Given the description of an element on the screen output the (x, y) to click on. 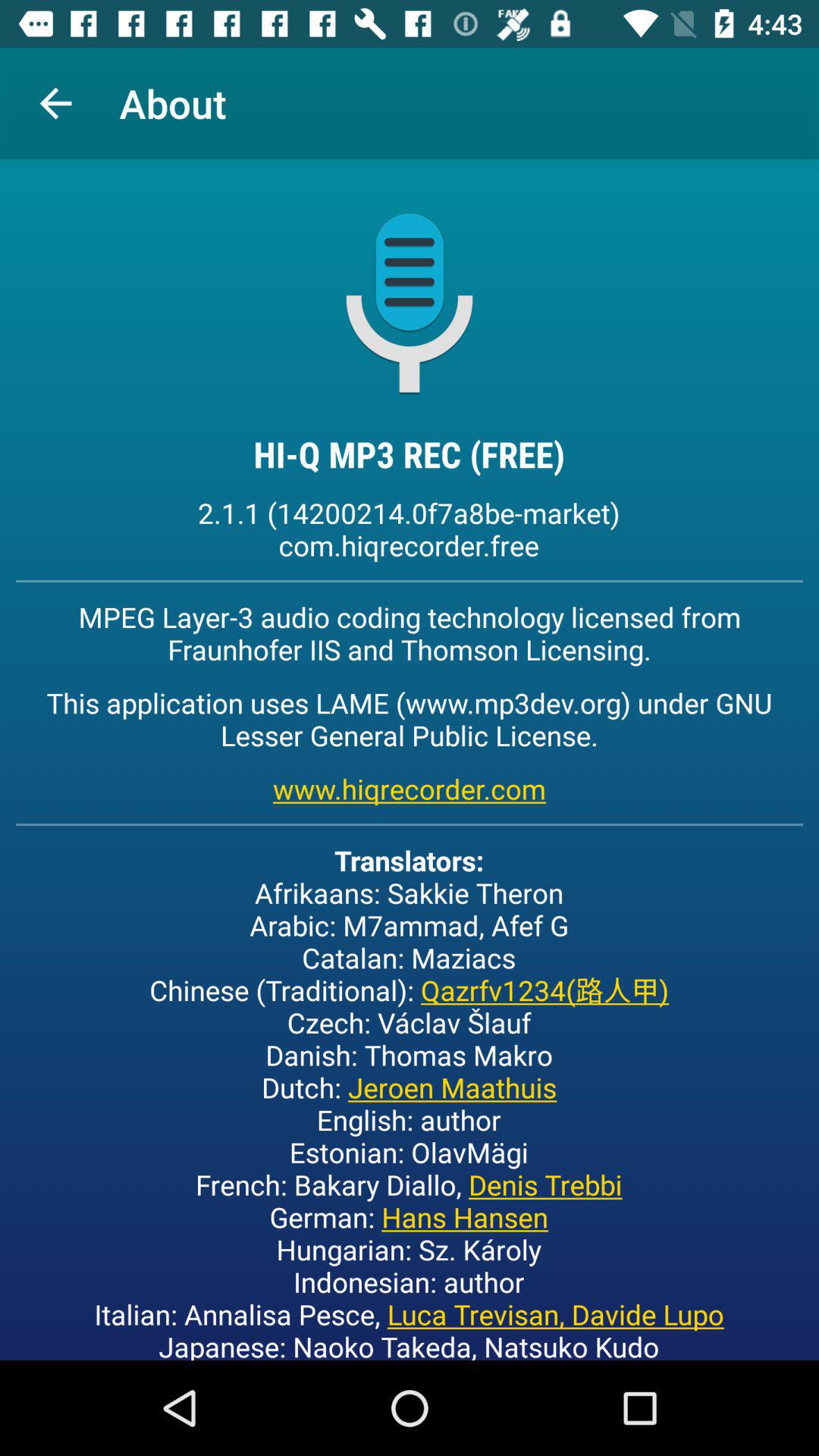
select the mike icon (409, 301)
below the yellow link select everything (408, 1100)
